Given the description of an element on the screen output the (x, y) to click on. 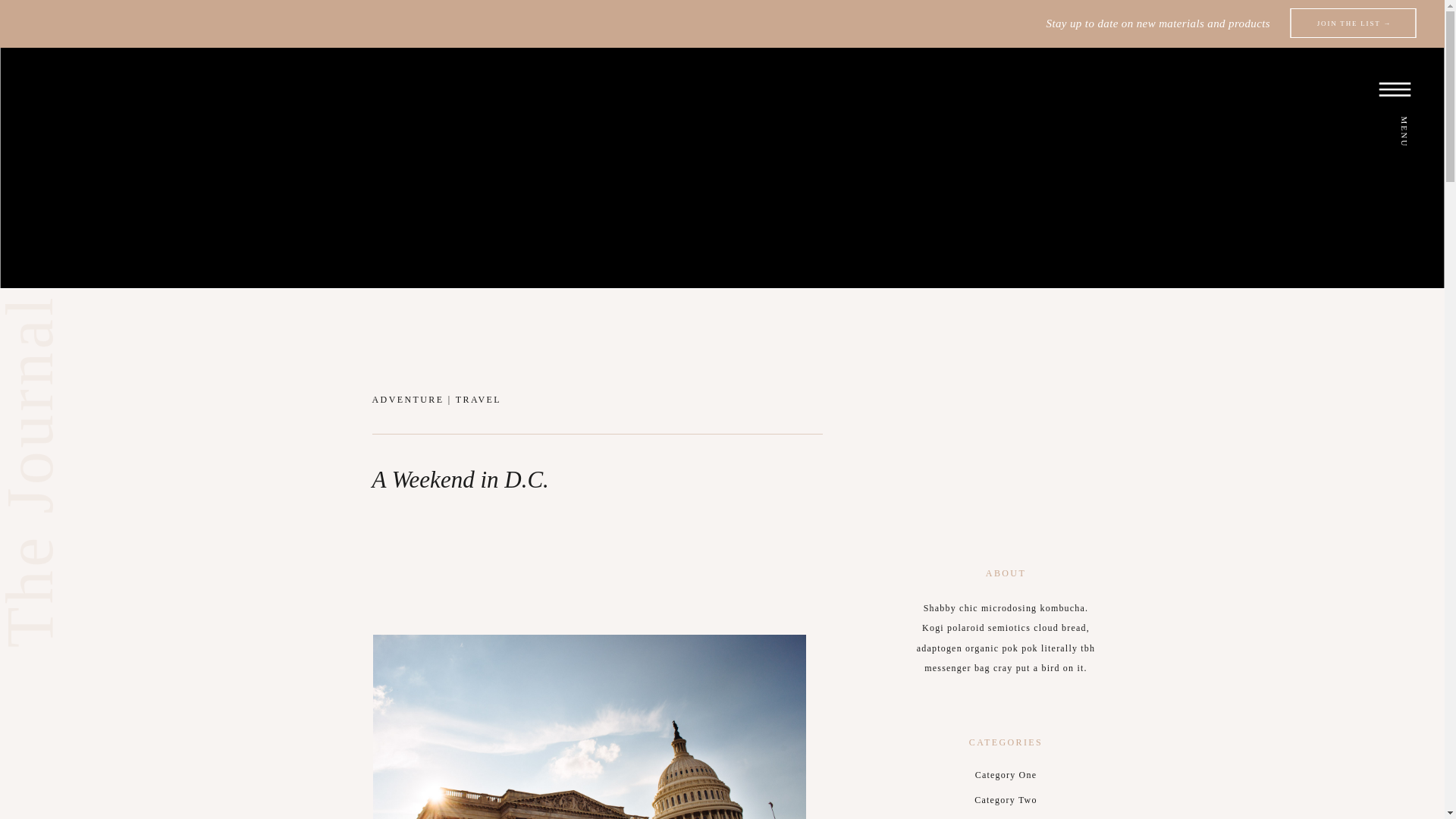
Category Two (1004, 800)
Category One (1004, 775)
Category Three (1004, 816)
